Given the description of an element on the screen output the (x, y) to click on. 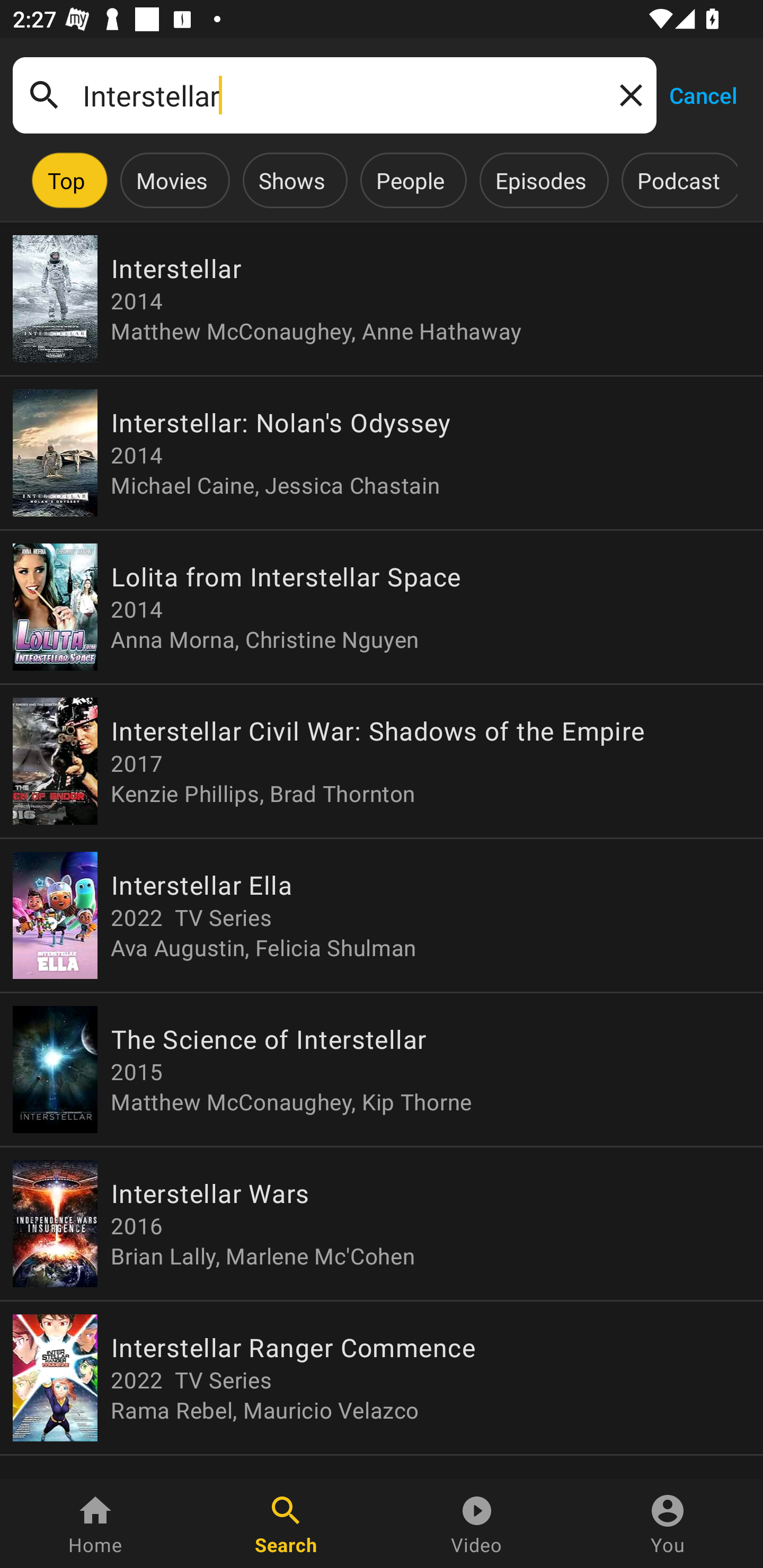
Clear query (627, 94)
Cancel (703, 94)
Interstellar (334, 95)
Top (66, 180)
Movies (171, 180)
Shows (291, 180)
People (410, 180)
Episodes (540, 180)
Podcast (678, 180)
Home (95, 1523)
Video (476, 1523)
You (667, 1523)
